Given the description of an element on the screen output the (x, y) to click on. 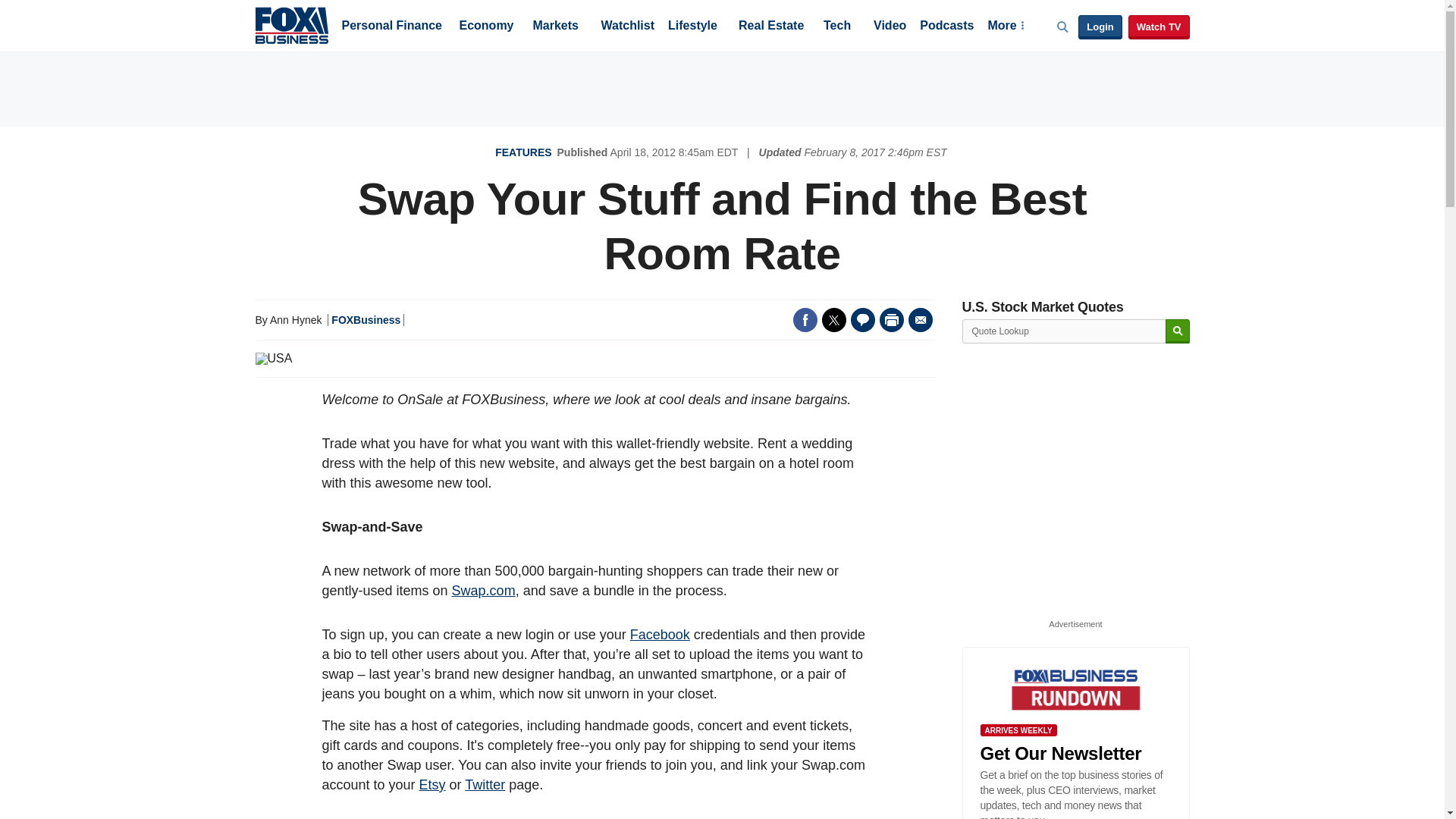
Watchlist (626, 27)
Economy (486, 27)
Search (1176, 331)
Fox Business (290, 24)
Login (1099, 27)
Watch TV (1158, 27)
Tech (837, 27)
Personal Finance (391, 27)
Real Estate (770, 27)
Podcasts (947, 27)
Lifestyle (692, 27)
Markets (555, 27)
Video (889, 27)
Search (1176, 331)
More (1005, 27)
